Given the description of an element on the screen output the (x, y) to click on. 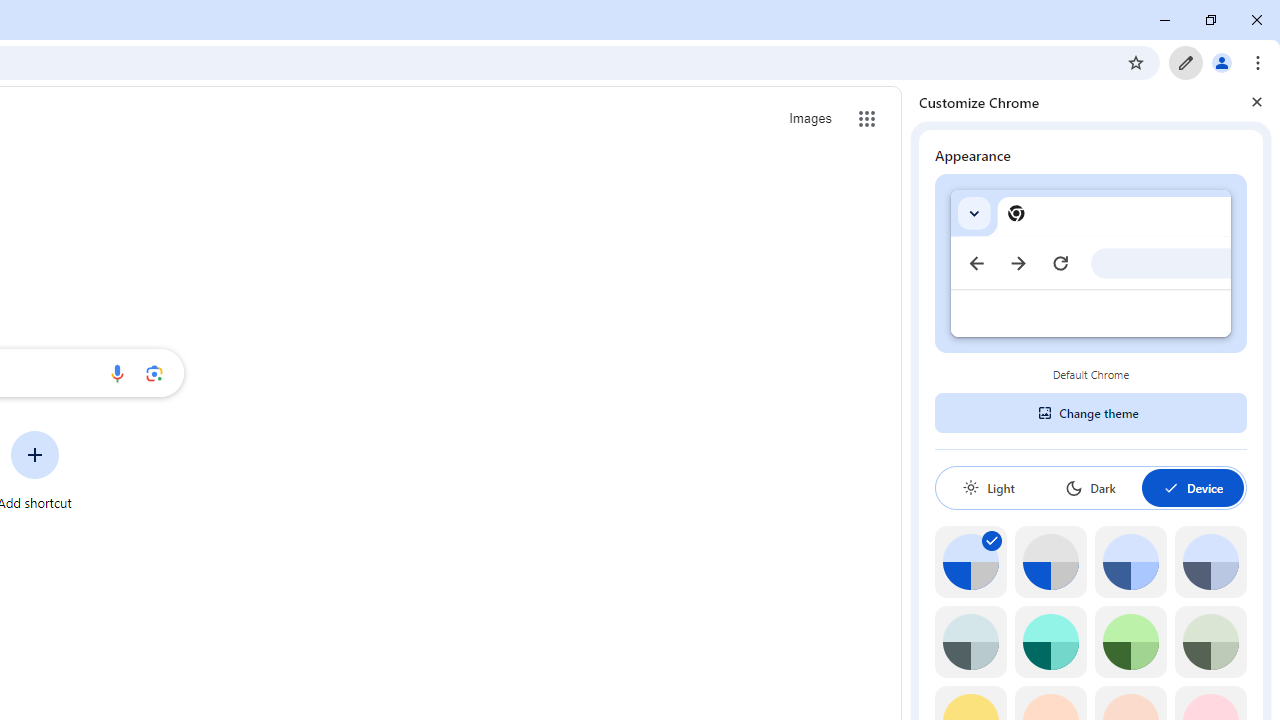
Grey default color (1050, 562)
Green (1130, 642)
Viridian (1210, 642)
Search by voice (116, 372)
AutomationID: svg (991, 540)
Cool grey (1210, 562)
Grey (970, 642)
Aqua (1050, 642)
Light (988, 487)
Blue (1130, 562)
Change theme (1090, 412)
